Given the description of an element on the screen output the (x, y) to click on. 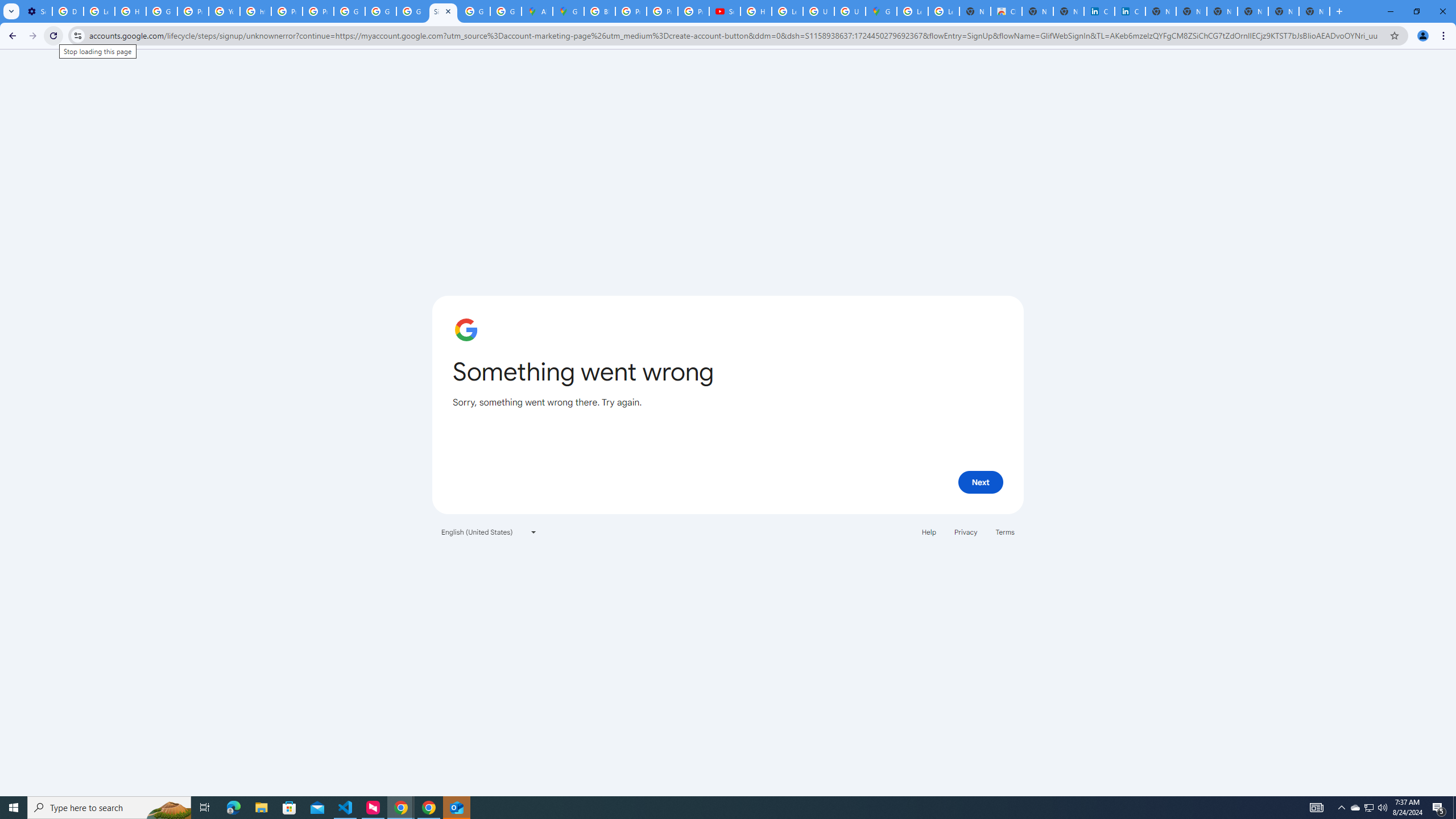
Settings - Customize profile (36, 11)
How Chrome protects your passwords - Google Chrome Help (756, 11)
Google Maps (568, 11)
Blogger Policies and Guidelines - Transparency Center (599, 11)
English (United States) (489, 531)
